Given the description of an element on the screen output the (x, y) to click on. 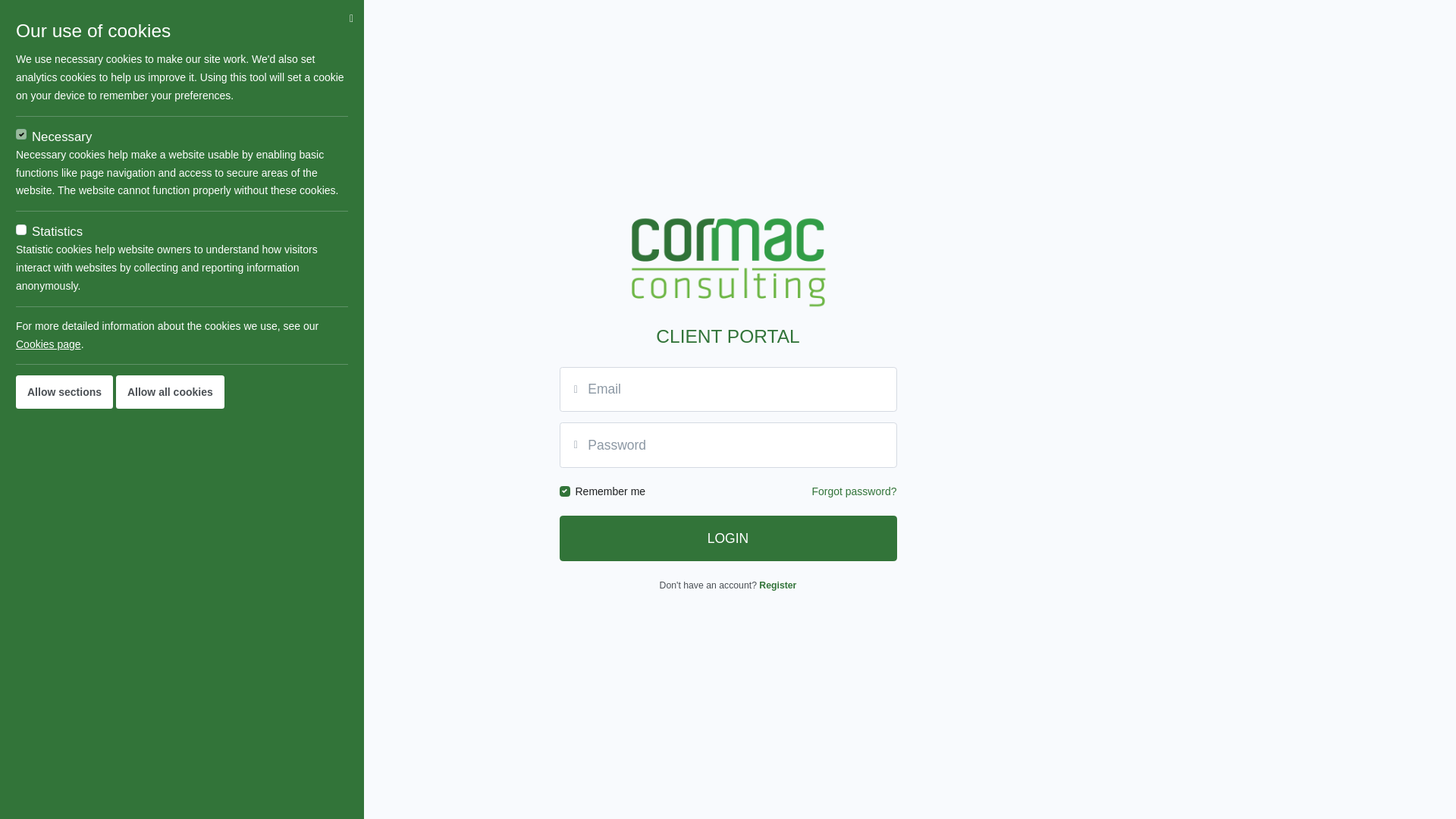
Cookies page Element type: text (48, 344)
Forgot password? Element type: text (853, 491)
Register Element type: text (777, 585)
Allow all cookies Element type: text (170, 391)
Allow sections Element type: text (63, 391)
LOGIN Element type: text (728, 538)
